Given the description of an element on the screen output the (x, y) to click on. 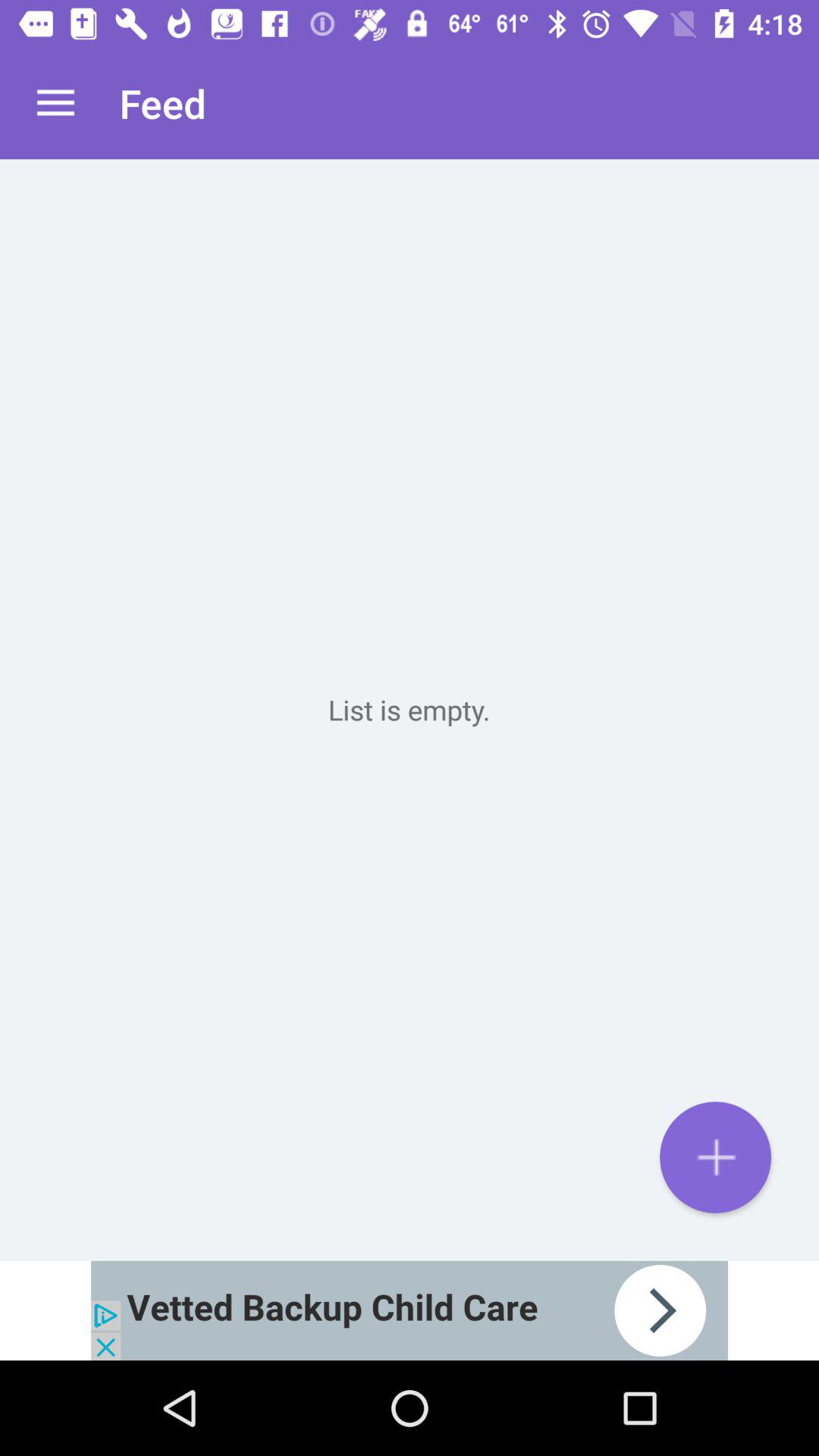
advertisement (409, 1310)
